Given the description of an element on the screen output the (x, y) to click on. 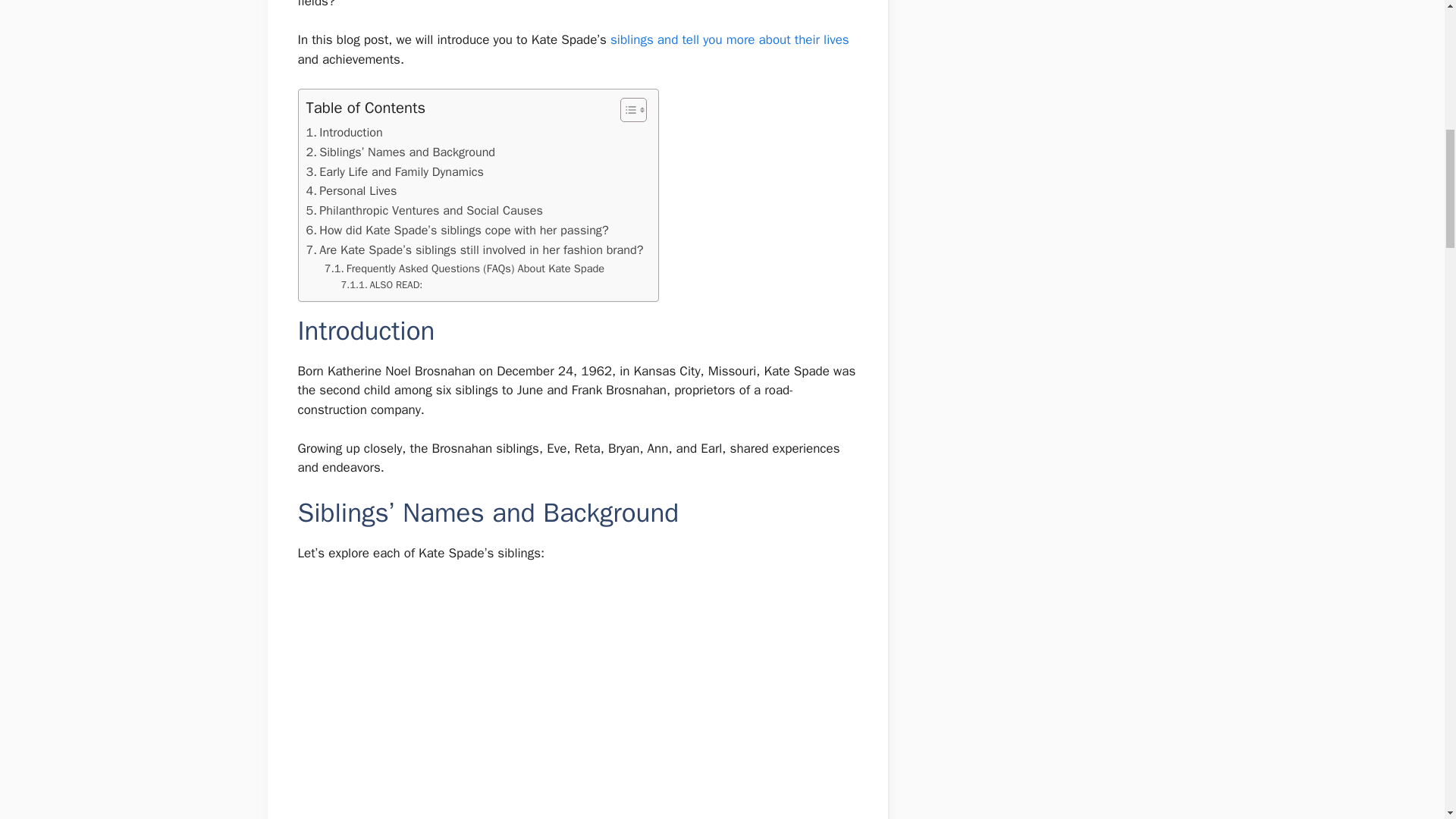
Introduction (343, 132)
Personal Lives (351, 190)
Personal Lives (351, 190)
ALSO READ: (381, 285)
siblings and tell you more about their lives (729, 39)
Early Life and Family Dynamics (394, 171)
ALSO READ: (381, 285)
Early Life and Family Dynamics (394, 171)
Philanthropic Ventures and Social Causes (424, 210)
Philanthropic Ventures and Social Causes (424, 210)
Introduction (343, 132)
